Given the description of an element on the screen output the (x, y) to click on. 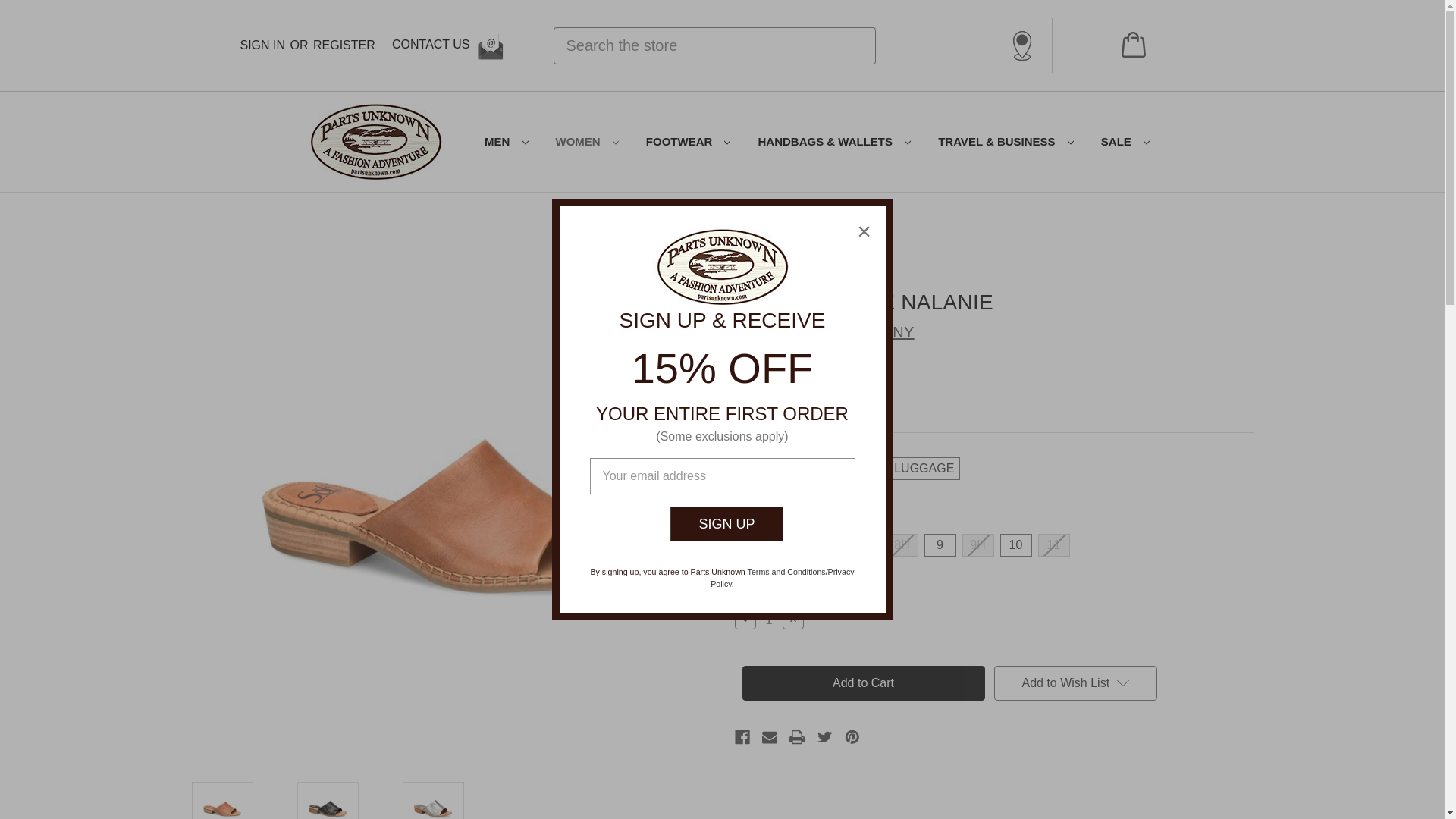
Add to Cart (862, 683)
SIGN IN (262, 45)
WOMEN (586, 141)
Sign Up (726, 523)
1 (768, 619)
